Given the description of an element on the screen output the (x, y) to click on. 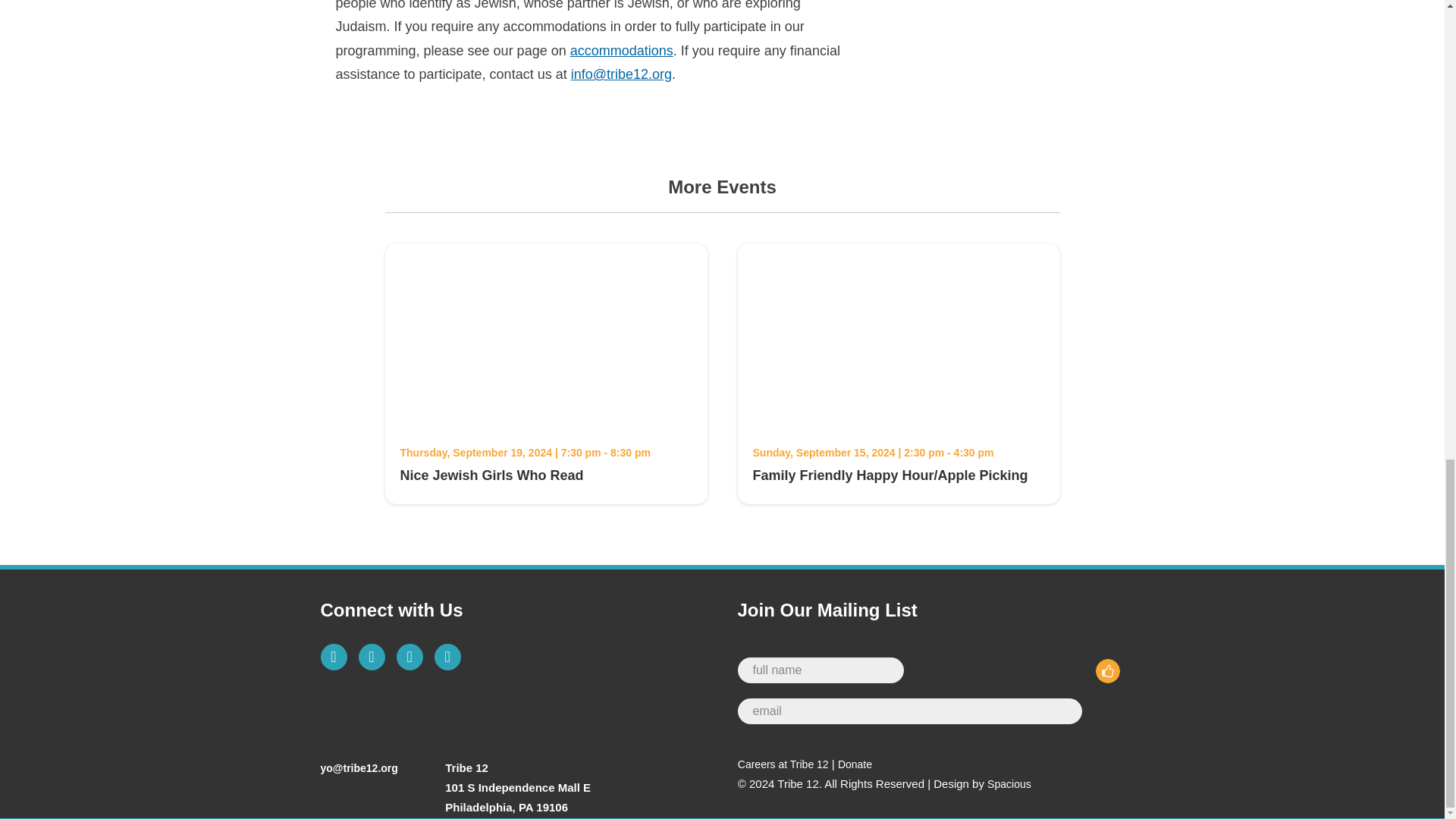
Nice Jewish Girls Who Read (491, 475)
accommodations (621, 50)
Nice Jewish Girls Who Read (546, 418)
Nice Jewish Girls Who Read (491, 475)
